Given the description of an element on the screen output the (x, y) to click on. 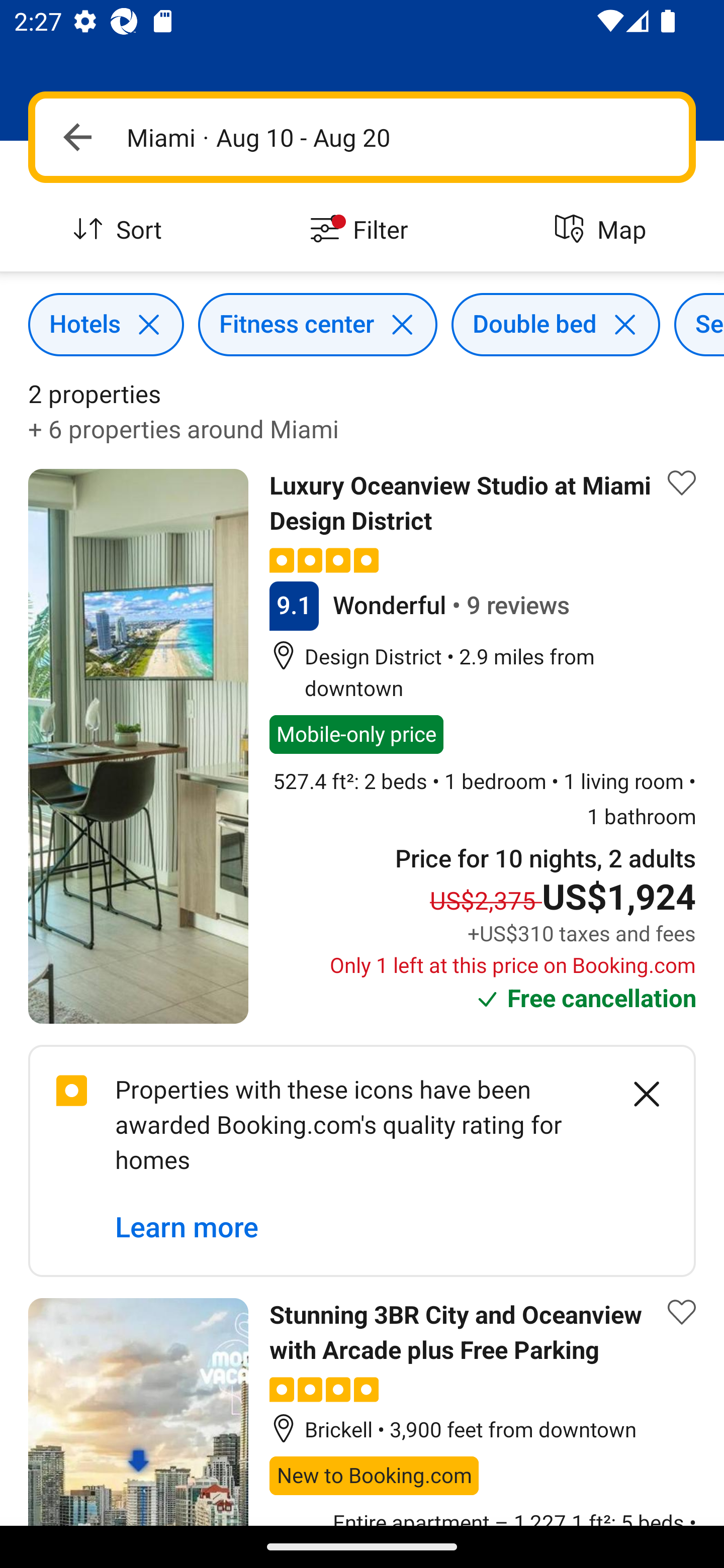
Navigate up Miami · Aug 10 - Aug 20 (362, 136)
Navigate up (77, 136)
Sort (120, 230)
Filter (361, 230)
Map (603, 230)
Save property to list (681, 482)
Clear (635, 1094)
Learn more (187, 1227)
Save property to list (681, 1312)
